Given the description of an element on the screen output the (x, y) to click on. 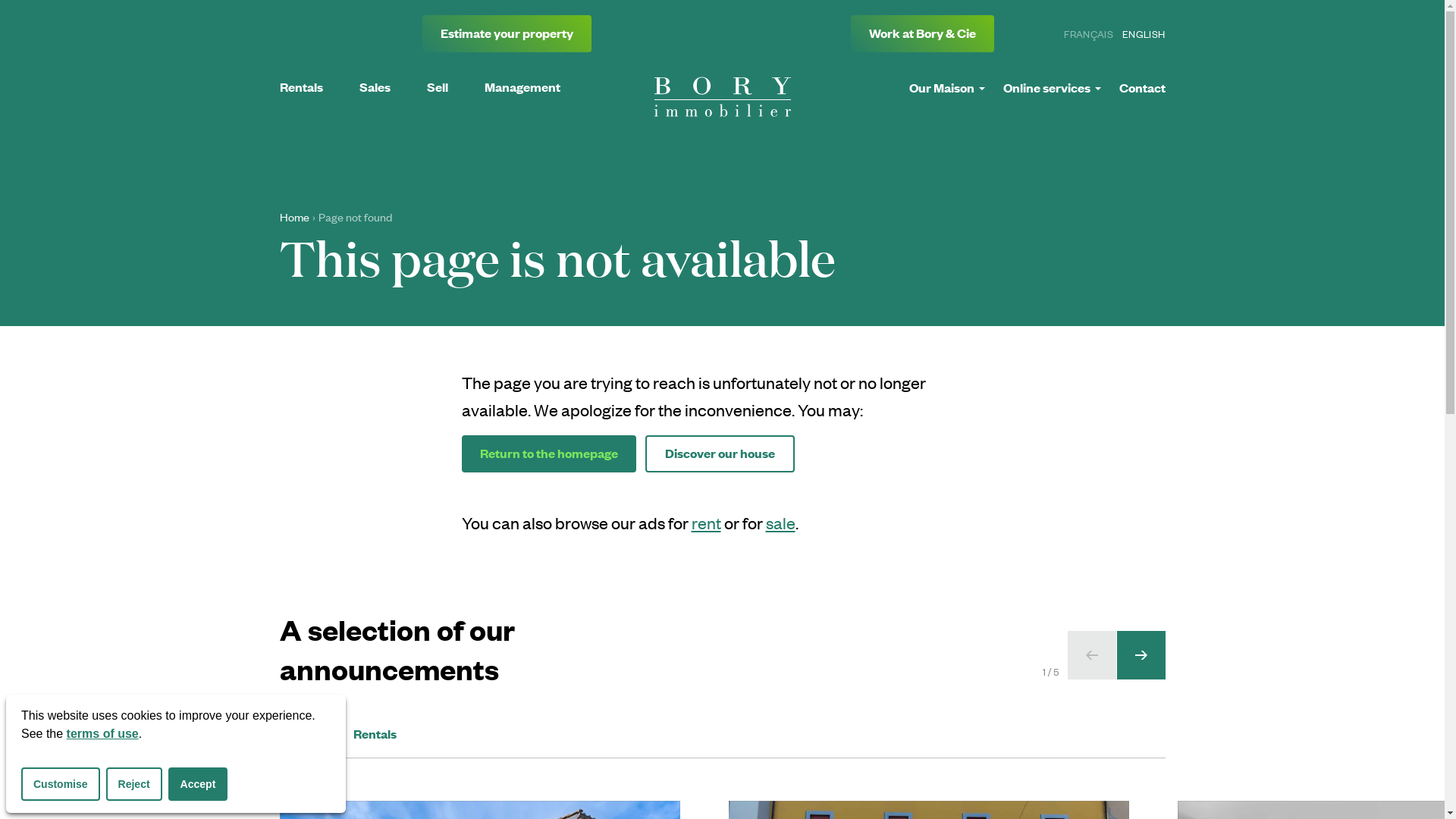
Our Maison Element type: text (946, 87)
Contact Element type: text (1142, 87)
Return to the homepage Element type: text (548, 453)
Home Element type: text (293, 216)
sale Element type: text (780, 521)
Sales Element type: text (294, 734)
Reject Element type: text (134, 783)
Online services Element type: text (1051, 87)
ENGLISH Element type: text (1143, 33)
terms of use Element type: text (102, 733)
Work at Bory & Cie Element type: text (922, 33)
rent Element type: text (706, 521)
Estimate your property Element type: text (505, 33)
Accept Element type: text (198, 783)
Customise Element type: text (60, 783)
Sales Element type: text (374, 86)
Discover our house Element type: text (718, 453)
Rentals Element type: text (374, 734)
Rentals Element type: text (300, 86)
Management Element type: text (521, 86)
Sell Element type: text (436, 86)
